Given the description of an element on the screen output the (x, y) to click on. 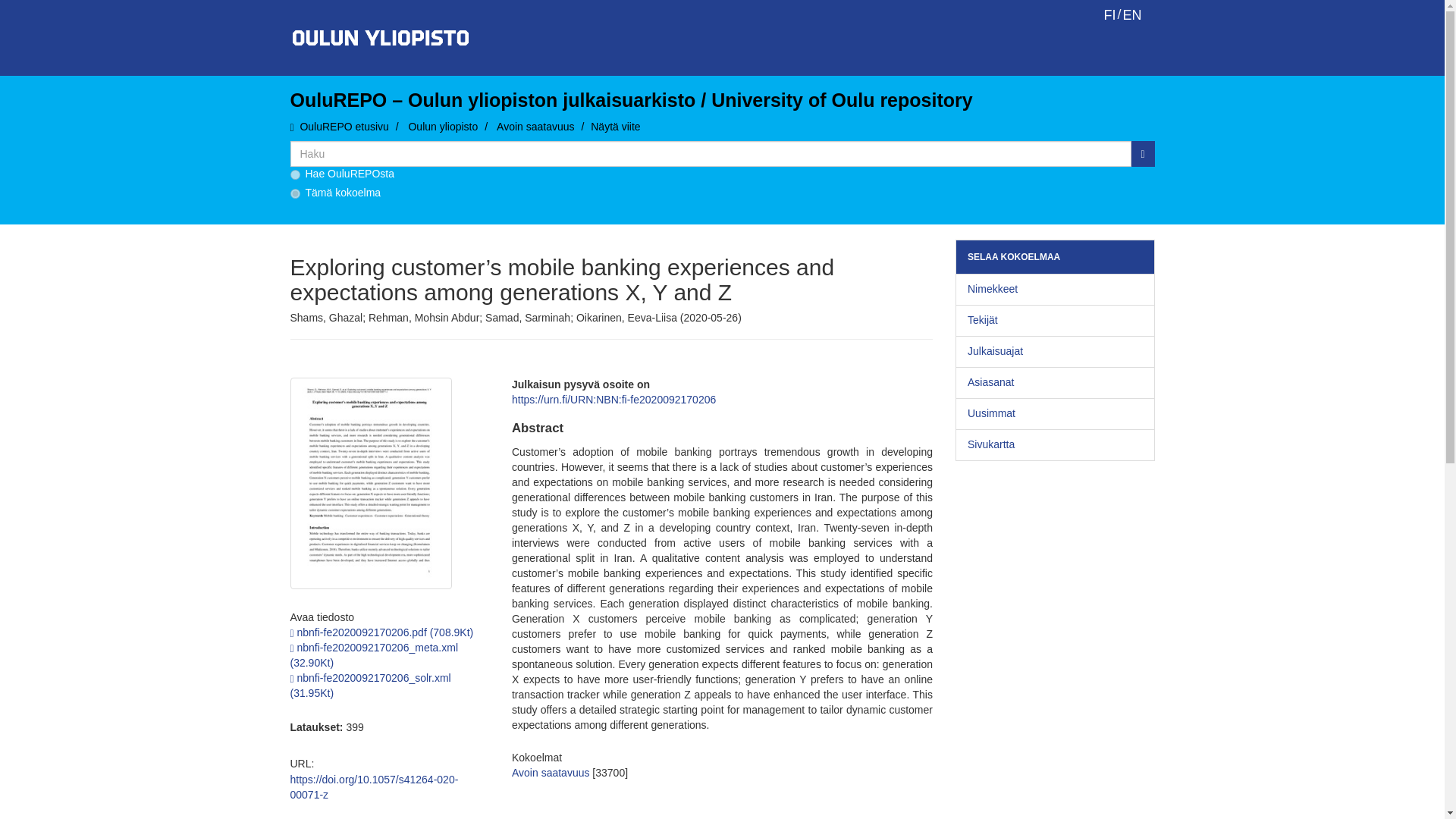
OuluREPO etusivu (343, 126)
Oulun yliopisto (442, 126)
Avoin saatavuus (550, 772)
Hae (1142, 153)
Nimekkeet (1054, 289)
Avoin saatavuus (534, 126)
Julkaisuajat (1054, 351)
